Given the description of an element on the screen output the (x, y) to click on. 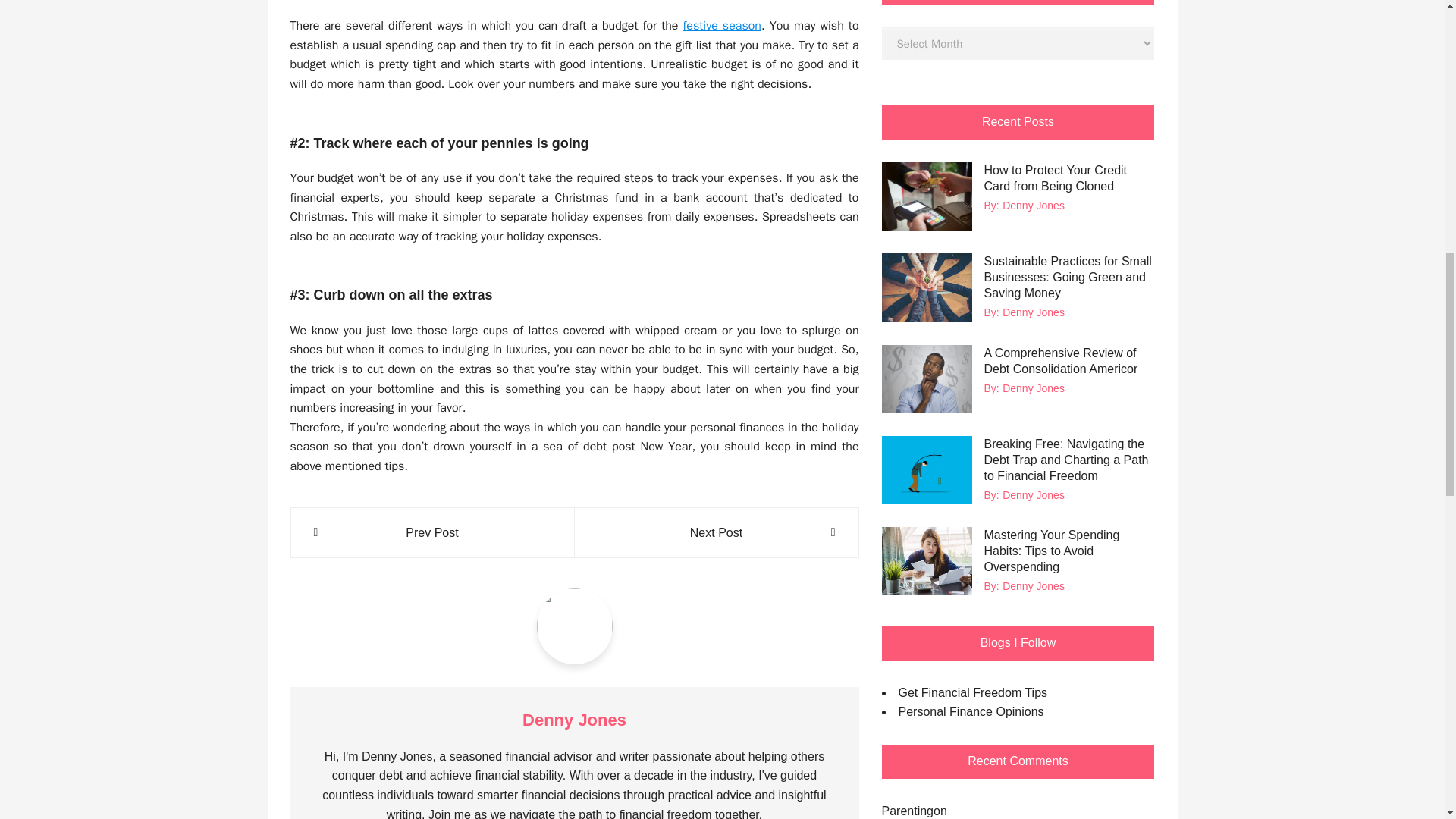
Next Post (715, 532)
festive season (721, 25)
Prev Post (432, 532)
